Given the description of an element on the screen output the (x, y) to click on. 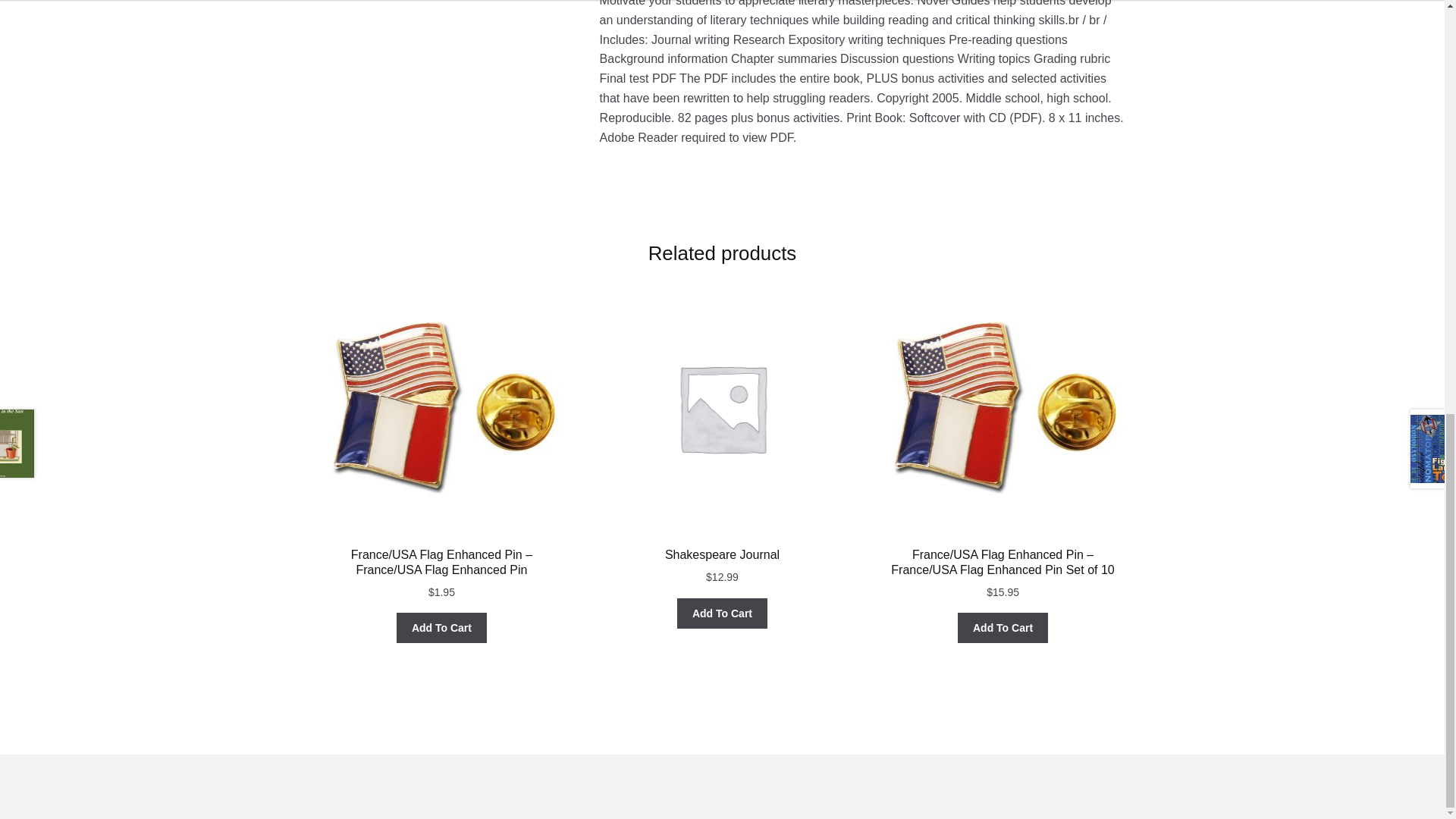
Add To Cart (441, 627)
Add To Cart (1003, 627)
Add To Cart (722, 613)
